Given the description of an element on the screen output the (x, y) to click on. 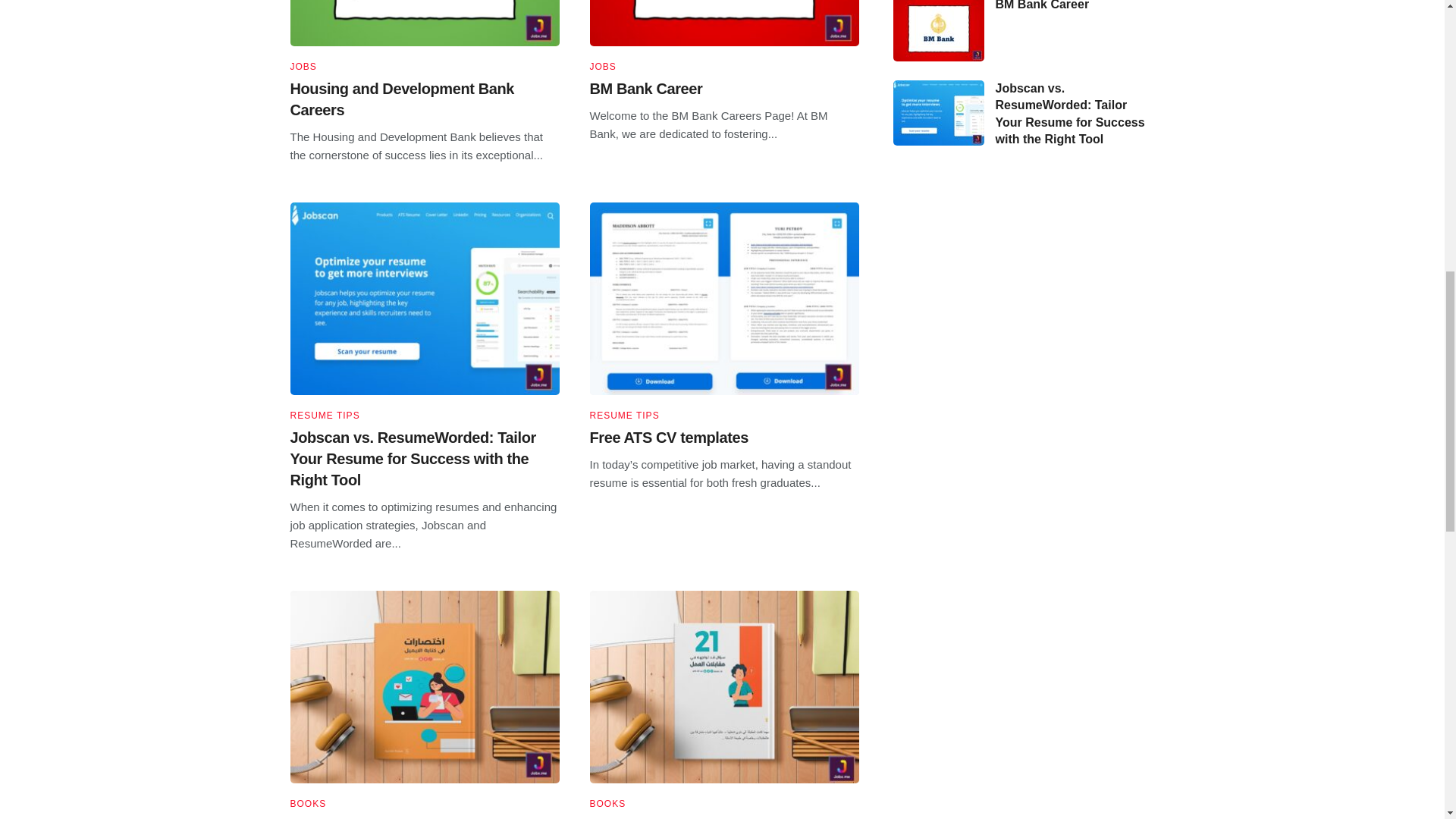
JOBS (302, 66)
Housing and Development Bank Careers (401, 98)
JOBS (602, 66)
BM Bank Career (646, 88)
RESUME TIPS (624, 415)
RESUME TIPS (324, 415)
